Given the description of an element on the screen output the (x, y) to click on. 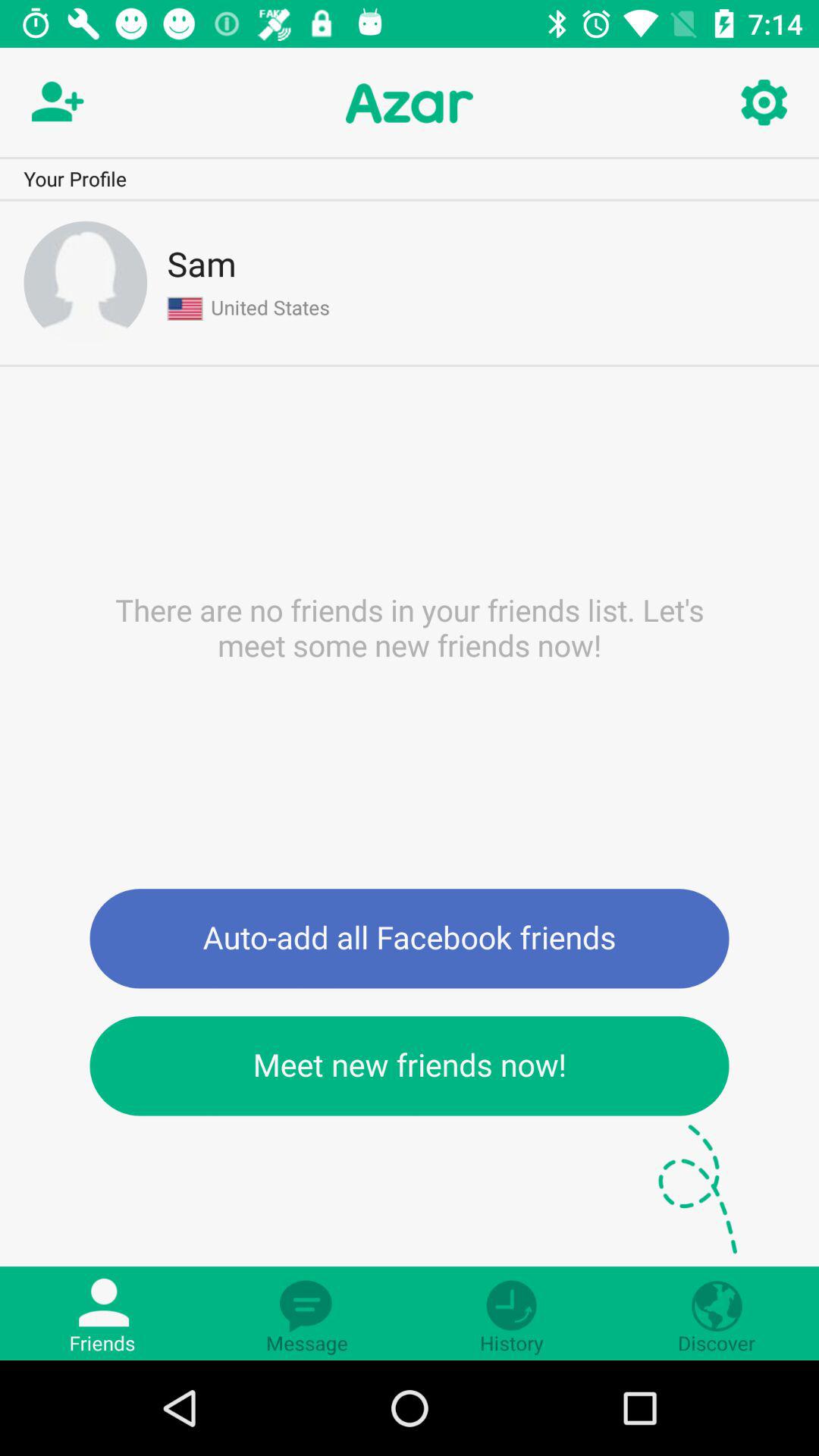
add friends (55, 103)
